Given the description of an element on the screen output the (x, y) to click on. 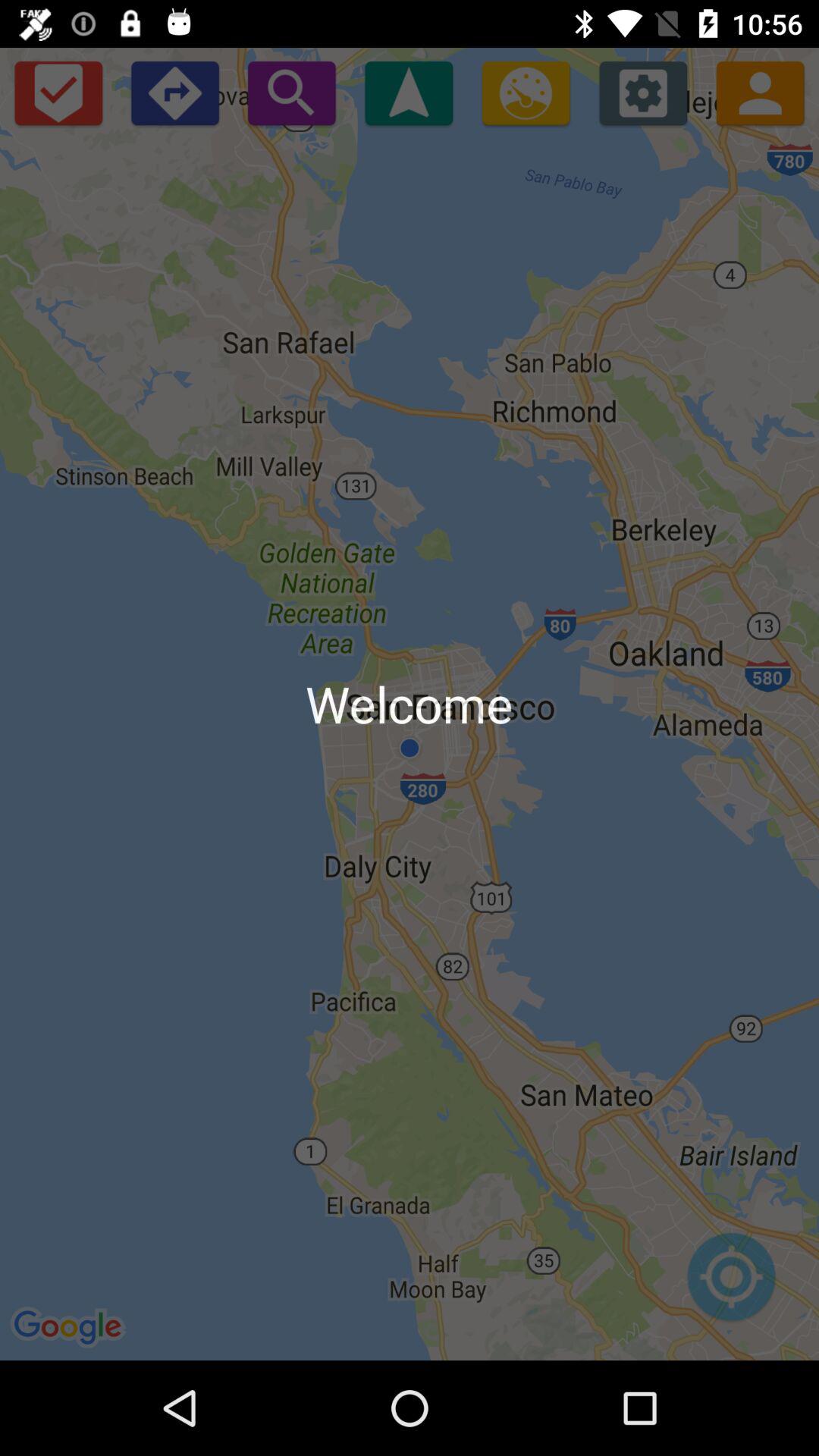
select icon above welcome icon (291, 92)
